Given the description of an element on the screen output the (x, y) to click on. 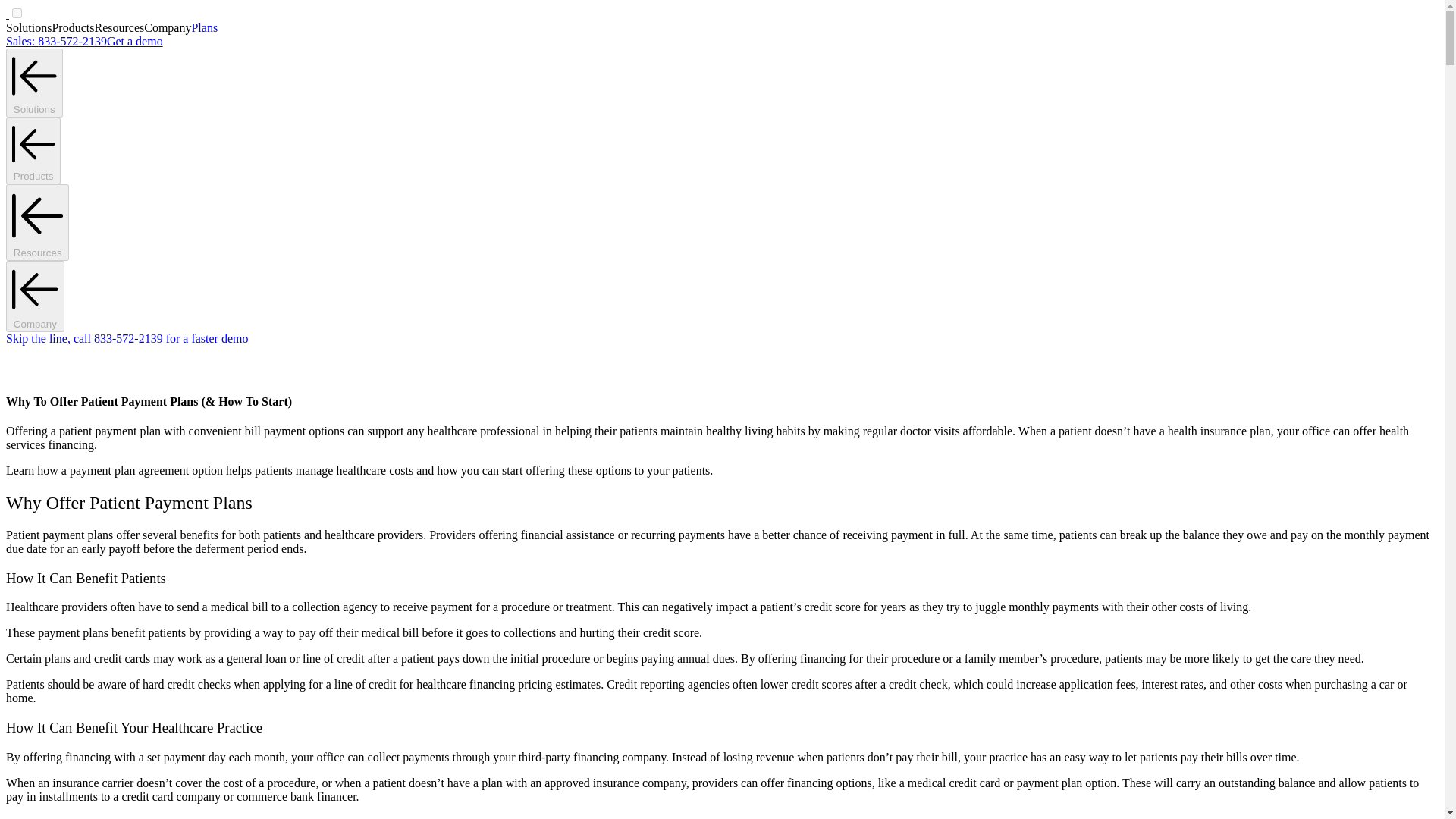
Sales: 833-572-2139 (55, 41)
Skip the line, call 833-572-2139 for a faster demo (126, 338)
on (16, 13)
Plans (203, 27)
Solutions (33, 82)
Resources (36, 222)
Company (34, 296)
Products (33, 150)
Get a demo (134, 41)
